Given the description of an element on the screen output the (x, y) to click on. 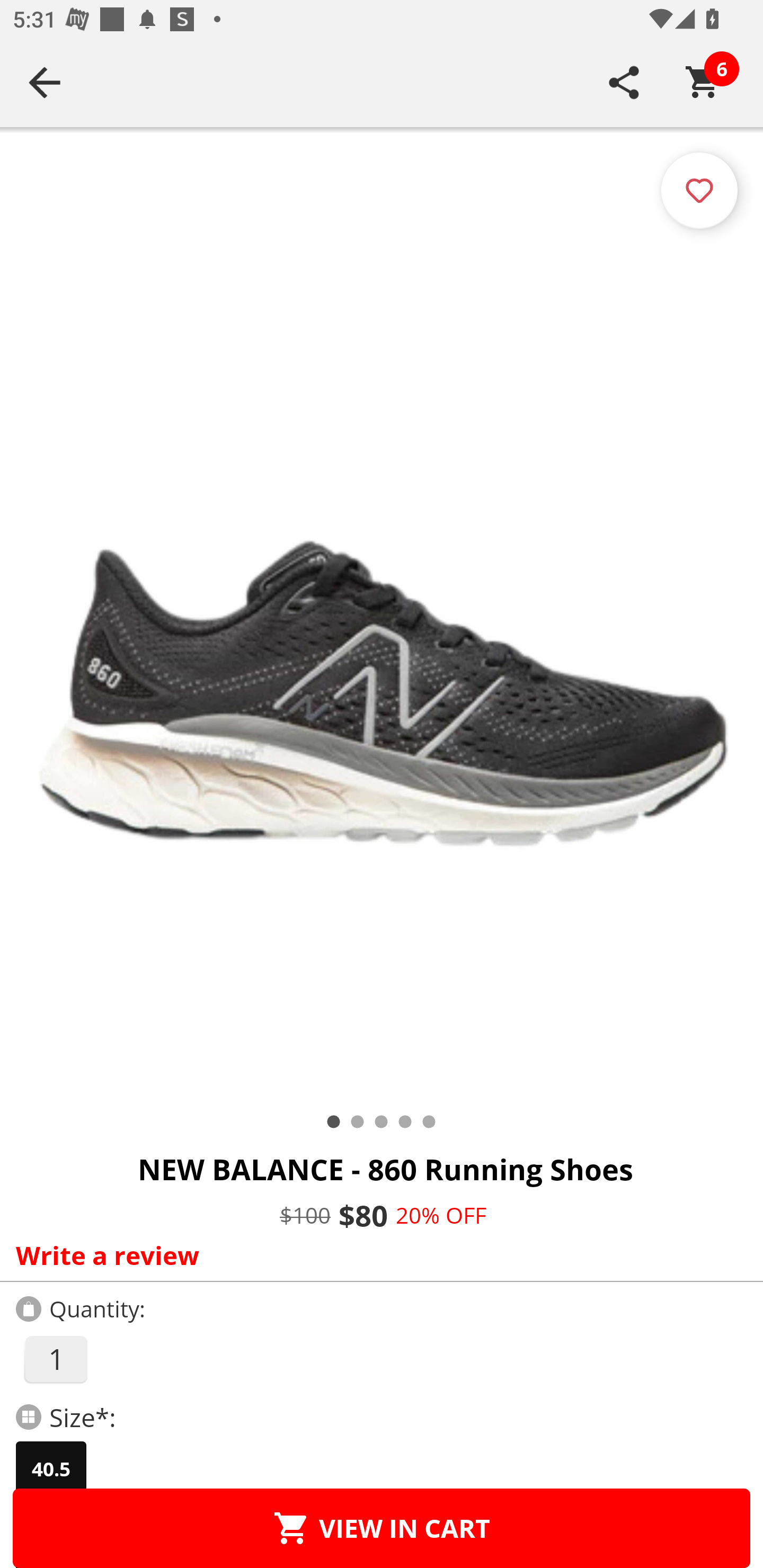
Navigate up (44, 82)
SHARE (623, 82)
Cart (703, 81)
Write a review (377, 1255)
1 (55, 1358)
40.5 (51, 1468)
VIEW IN CART (381, 1528)
